Given the description of an element on the screen output the (x, y) to click on. 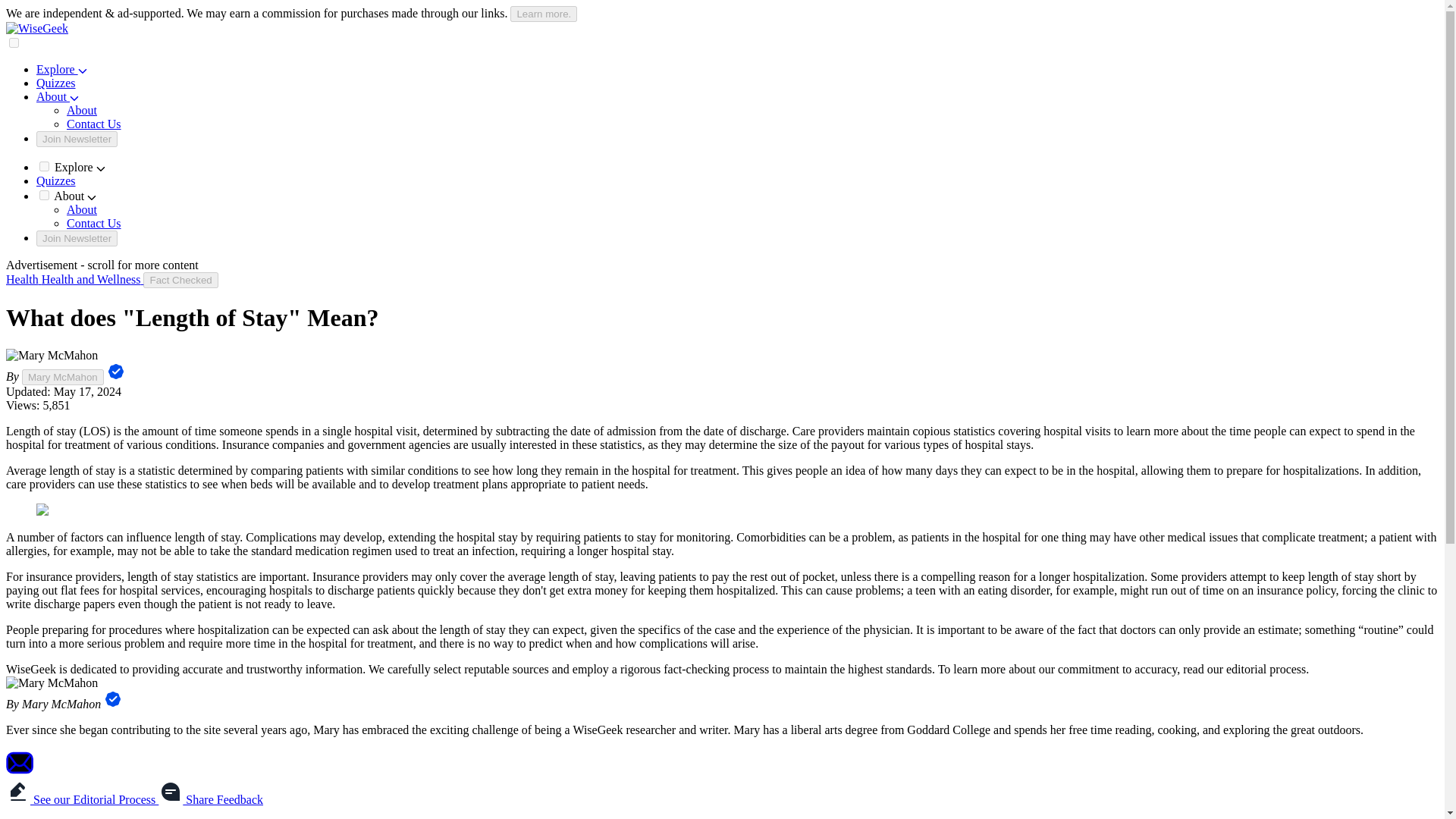
Quizzes (55, 180)
on (13, 42)
on (44, 166)
Quizzes (55, 82)
Explore (61, 69)
Contact Us (93, 123)
Fact Checked (179, 279)
About (57, 96)
on (44, 194)
Mary McMahon (62, 376)
